Given the description of an element on the screen output the (x, y) to click on. 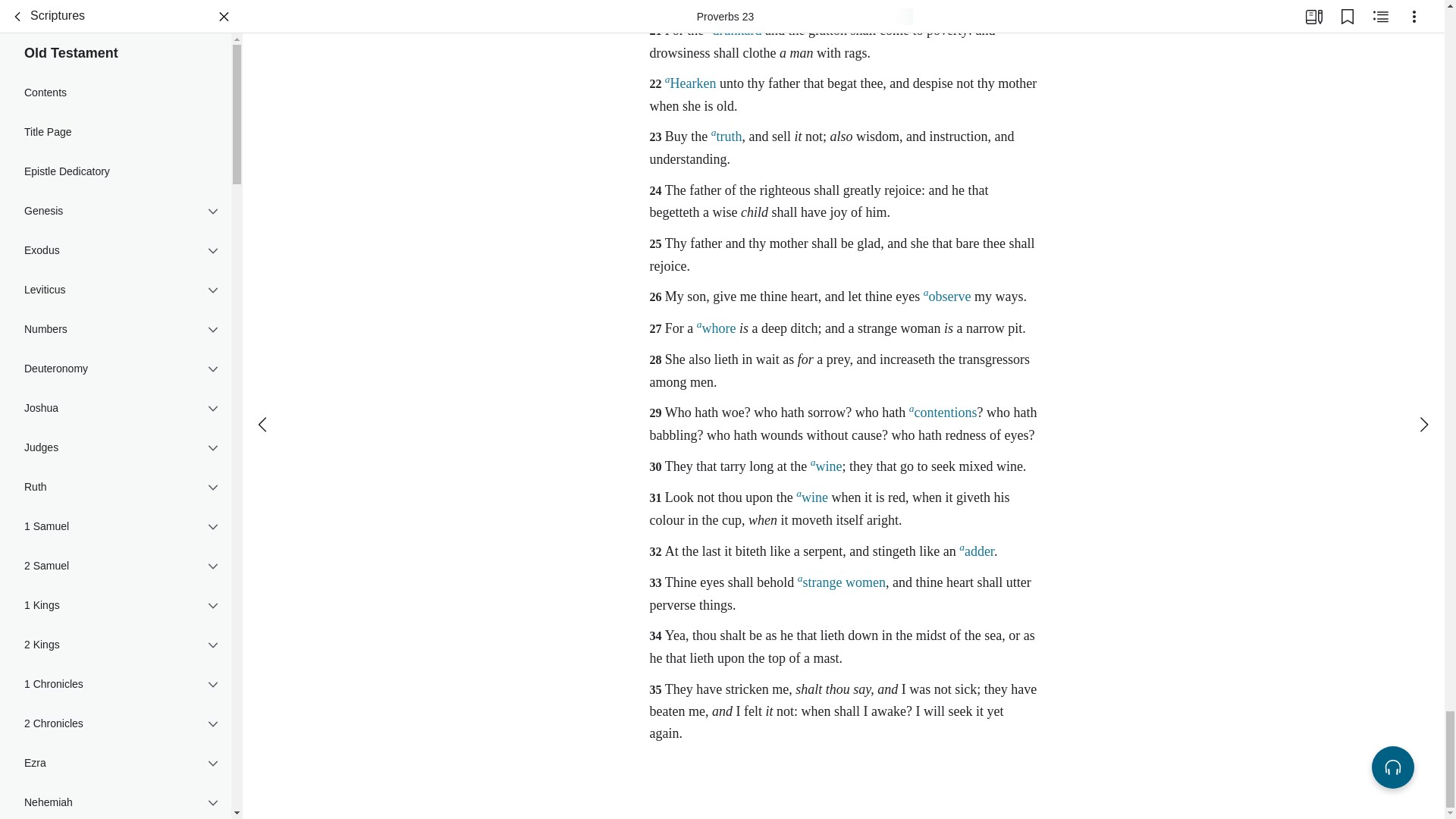
Proverbs 13 (115, 325)
Proverbs 1 (115, 5)
Proverbs 11 (115, 270)
Proverbs 9 (115, 216)
Proverbs 14 (115, 352)
Proverbs 2 (115, 24)
Proverbs 7 (115, 161)
Proverbs 10 (115, 243)
Proverbs 12 (115, 298)
Proverbs 5 (115, 106)
